Given the description of an element on the screen output the (x, y) to click on. 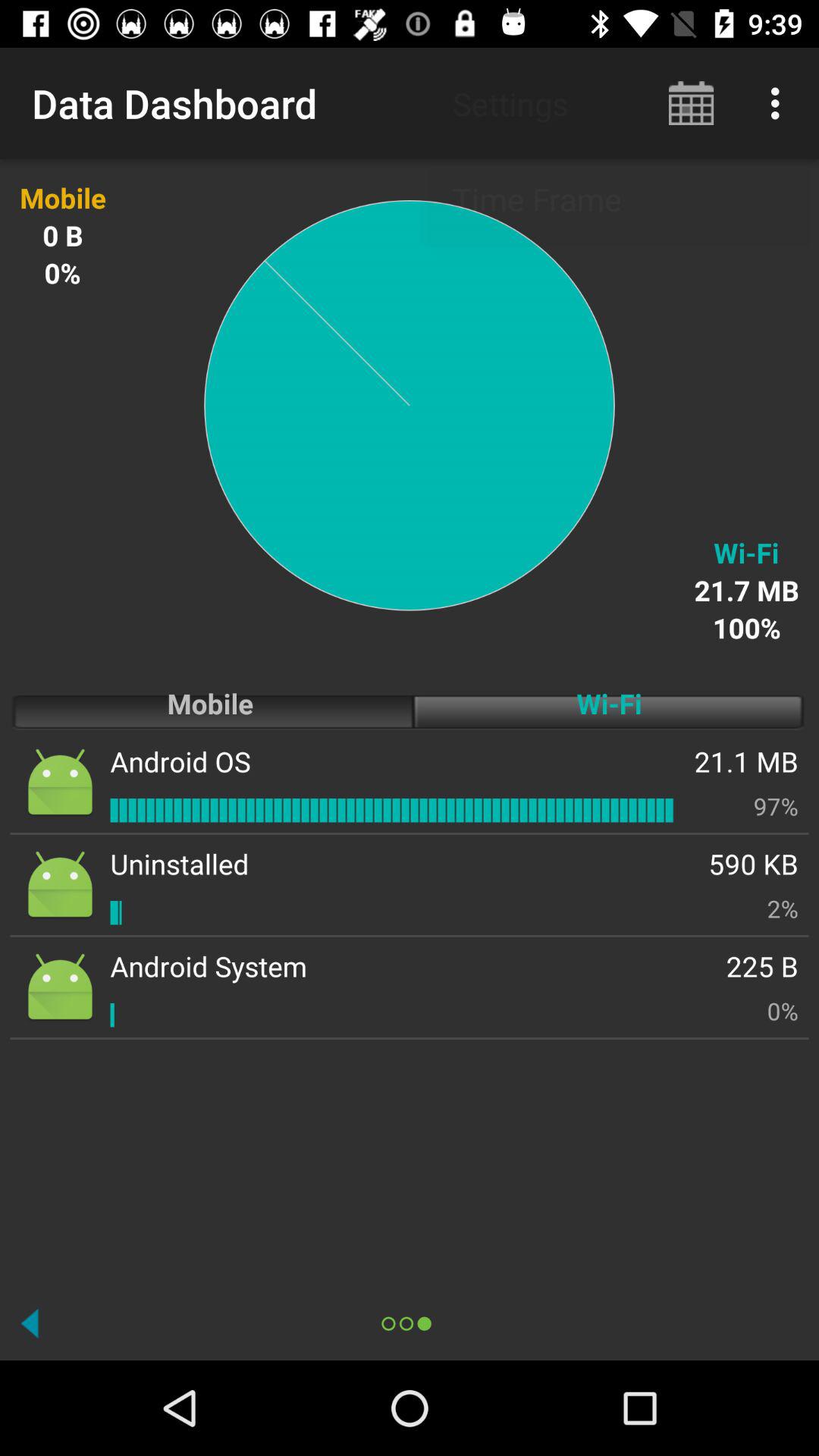
turn off the app next to the wi-fi (180, 761)
